Given the description of an element on the screen output the (x, y) to click on. 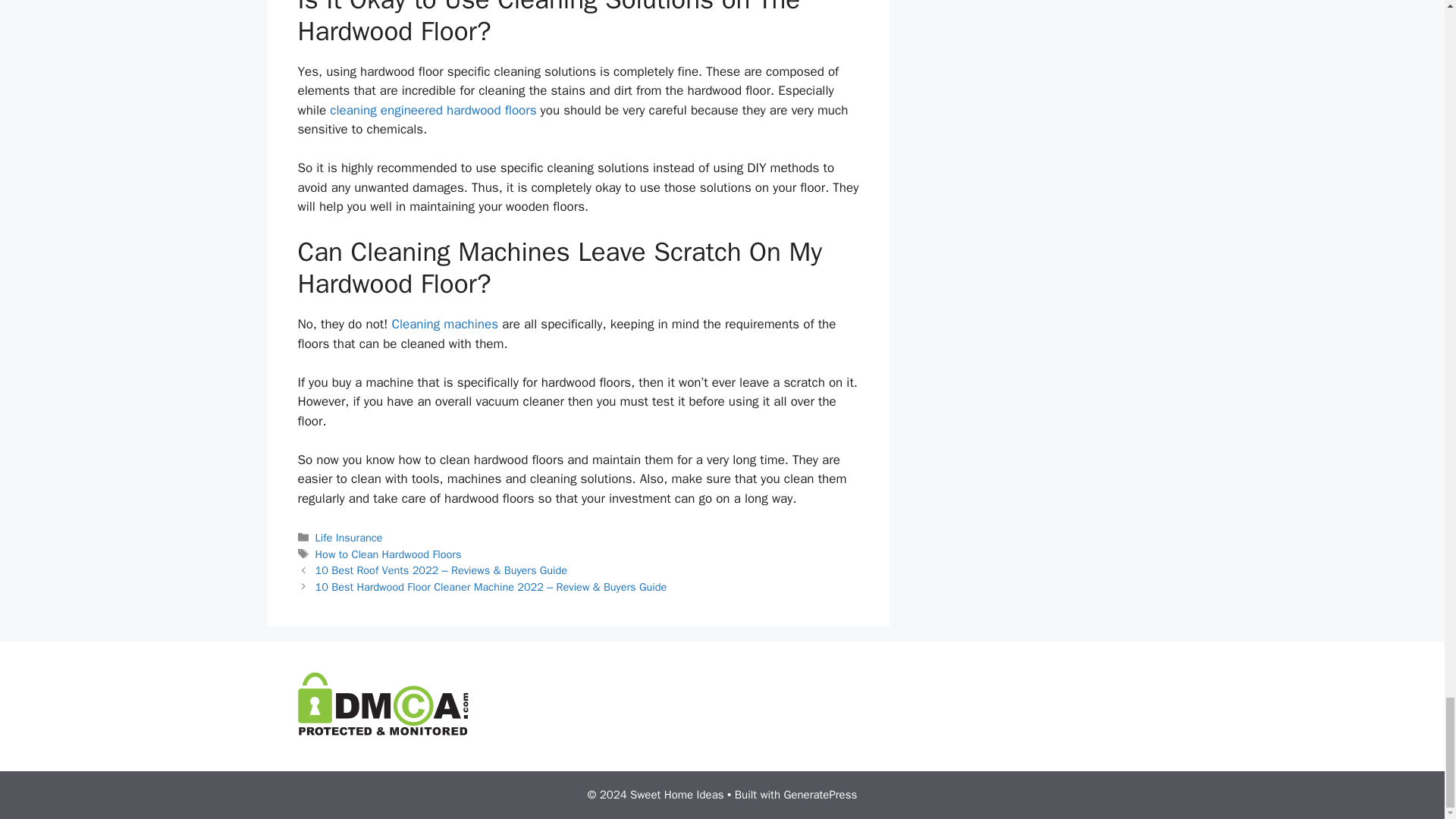
How to Clean Hardwood Floors (388, 554)
Life Insurance (348, 537)
GeneratePress (820, 794)
DMCA.com Protection Status (382, 731)
cleaning engineered hardwood floors (432, 109)
Cleaning machines (444, 324)
